Given the description of an element on the screen output the (x, y) to click on. 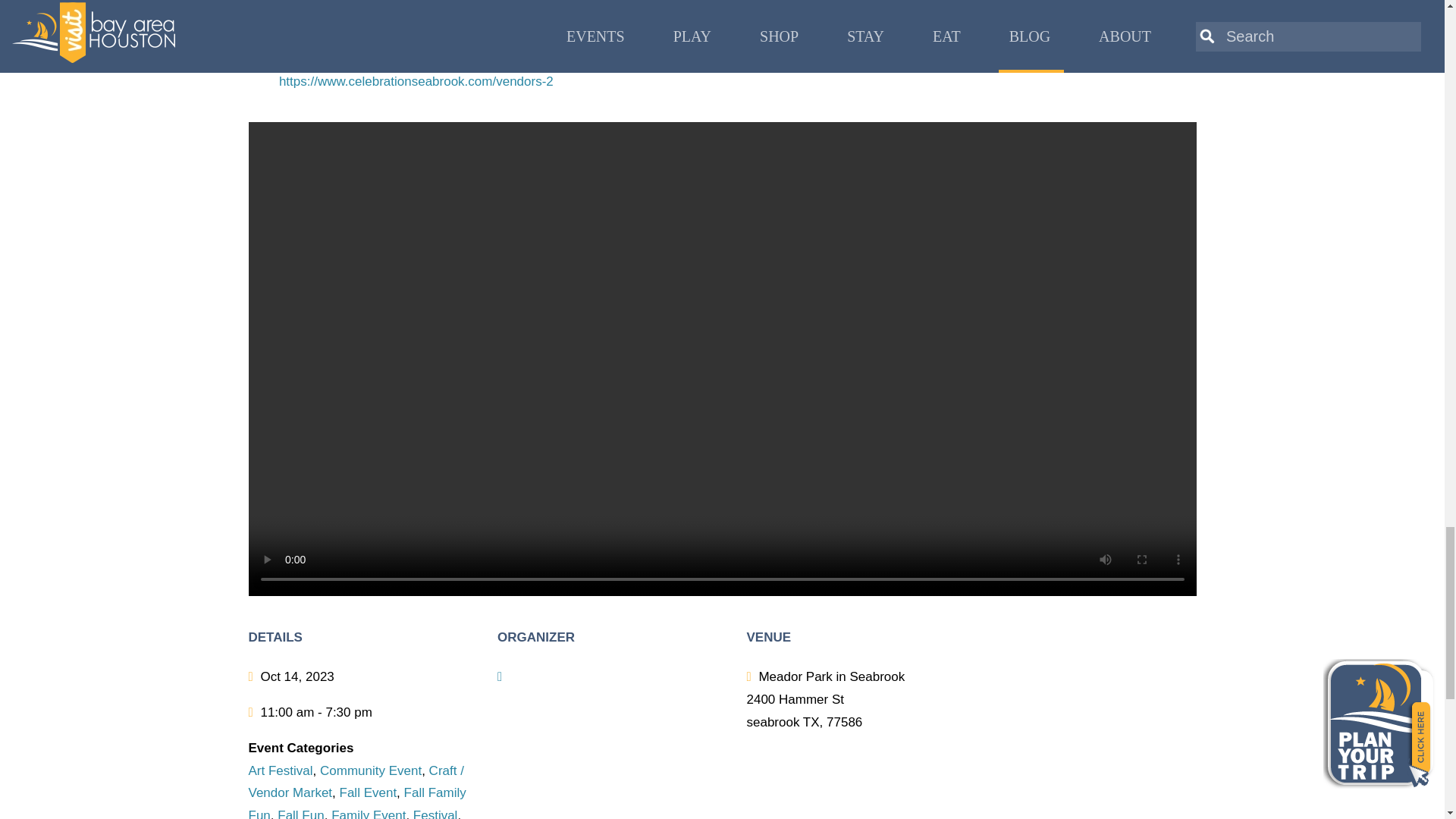
Google maps iframe displaying the address to BARge 295 (1114, 714)
